Given the description of an element on the screen output the (x, y) to click on. 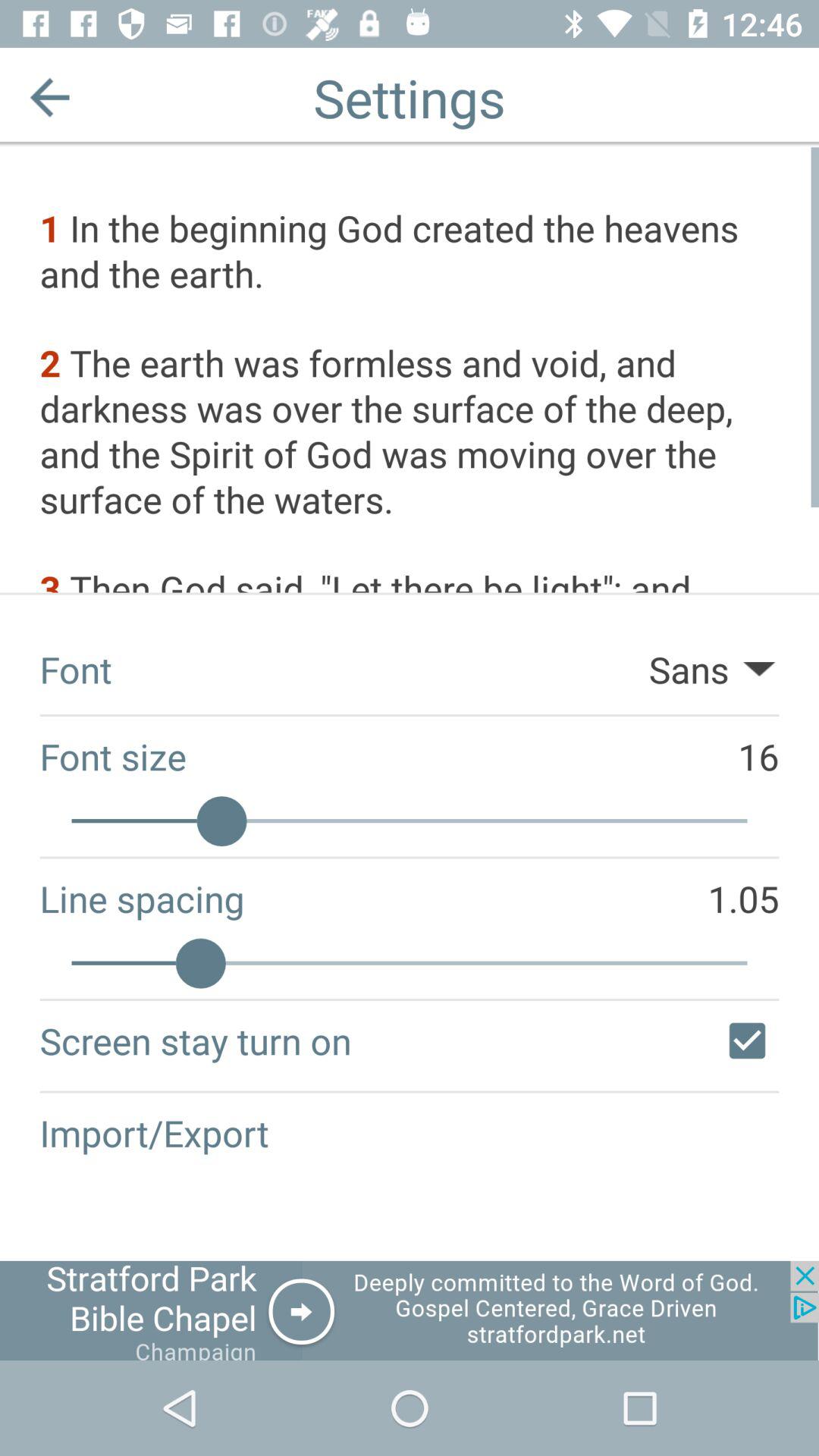
toggle screen stay turn on/off (747, 1040)
